Given the description of an element on the screen output the (x, y) to click on. 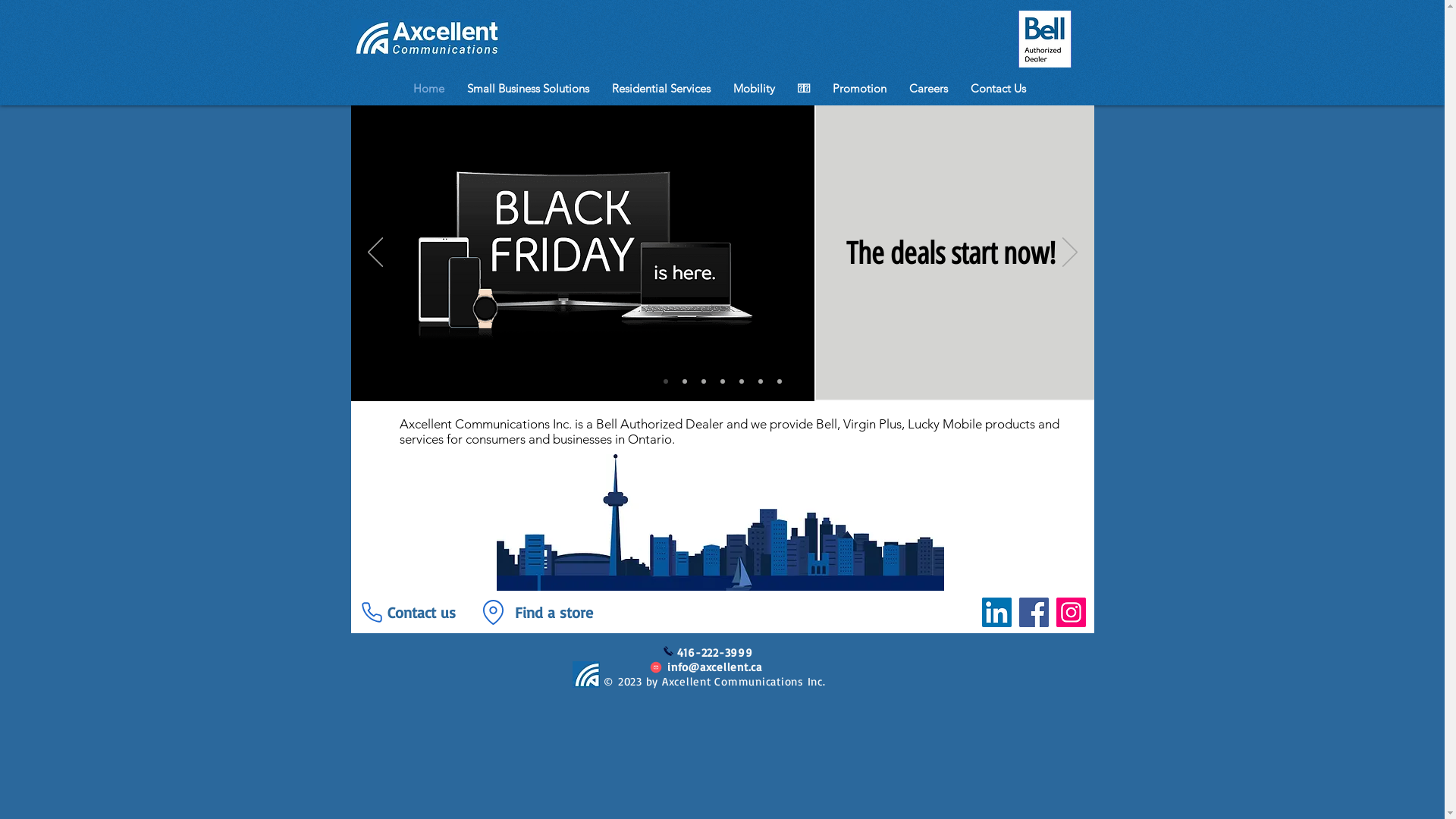
Small Business Solutions Element type: text (527, 88)
Contact Us Element type: text (998, 88)
Promotion Element type: text (859, 88)
Mobility Element type: text (753, 88)
axcellent logo blue 2.jpg Element type: hover (426, 35)
Home Element type: text (428, 88)
websiteAxellent full blue logo with auth Element type: hover (585, 674)
info@axcellent.ca Element type: text (714, 666)
Find a store Element type: text (553, 612)
Contact us Element type: text (420, 612)
Careers Element type: text (928, 88)
Residential Services Element type: text (660, 88)
